Given the description of an element on the screen output the (x, y) to click on. 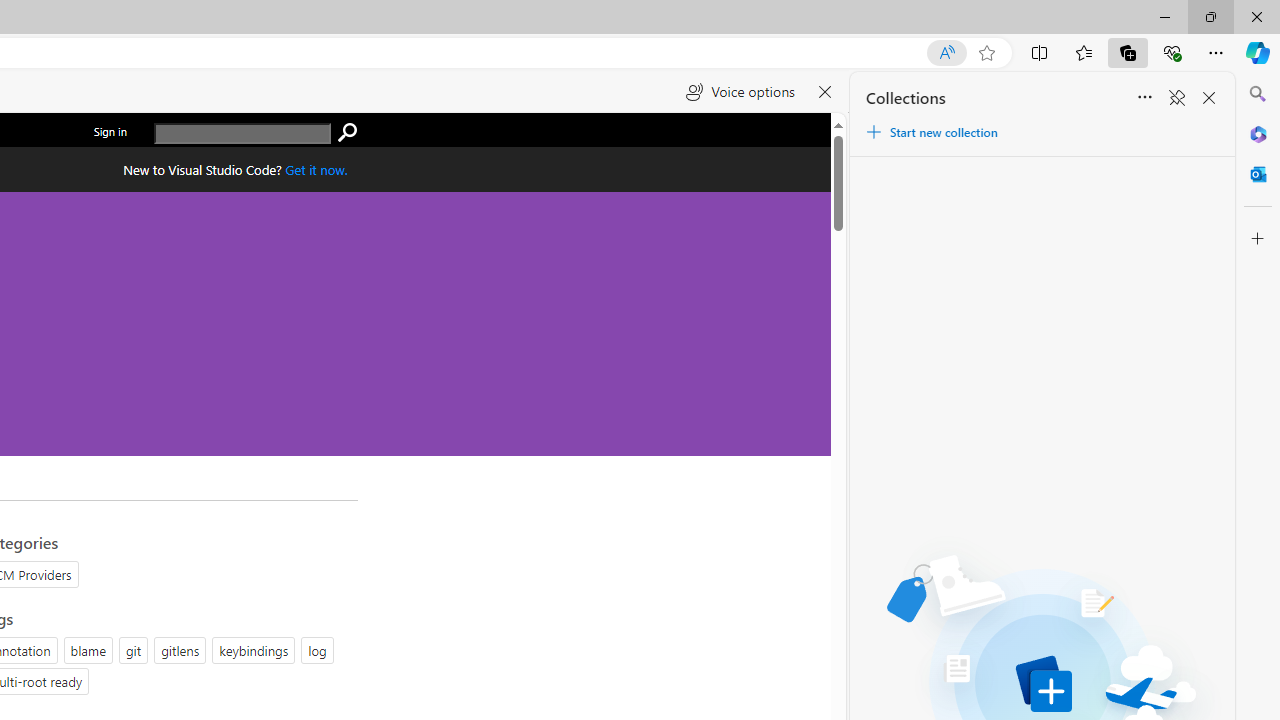
Start new collection (931, 132)
search (347, 133)
Close Collections (1208, 98)
Get Visual Studio Code Now (316, 169)
